Given the description of an element on the screen output the (x, y) to click on. 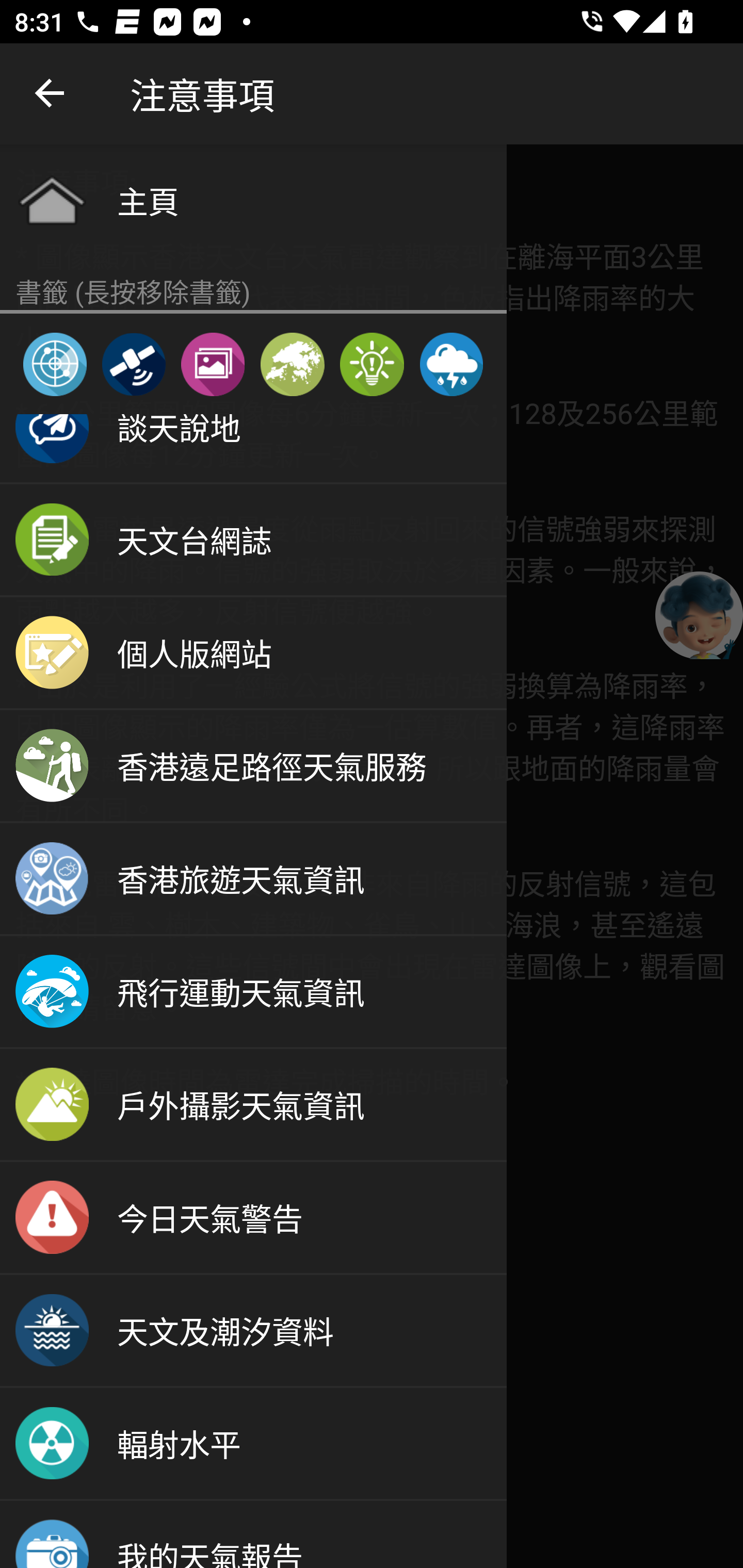
向上瀏覽 (50, 93)
主頁 (253, 199)
雷達圖像 (54, 364)
衛星圖像 (133, 364)
天氣照片 (212, 364)
分區天氣 (292, 364)
天氣提示 (371, 364)
定點降雨及閃電預報 (451, 364)
談天說地 (253, 448)
天文台網誌 (253, 540)
個人版網站 (253, 653)
香港遠足路徑天氣服務 (253, 766)
香港旅遊天氣資訊 (253, 879)
飛行運動天氣資訊 (253, 992)
戶外攝影天氣資訊 (253, 1104)
今日天氣警告 (253, 1217)
天文及潮汐資料 (253, 1330)
輻射水平 (253, 1443)
我的天氣報告 (253, 1534)
